Given the description of an element on the screen output the (x, y) to click on. 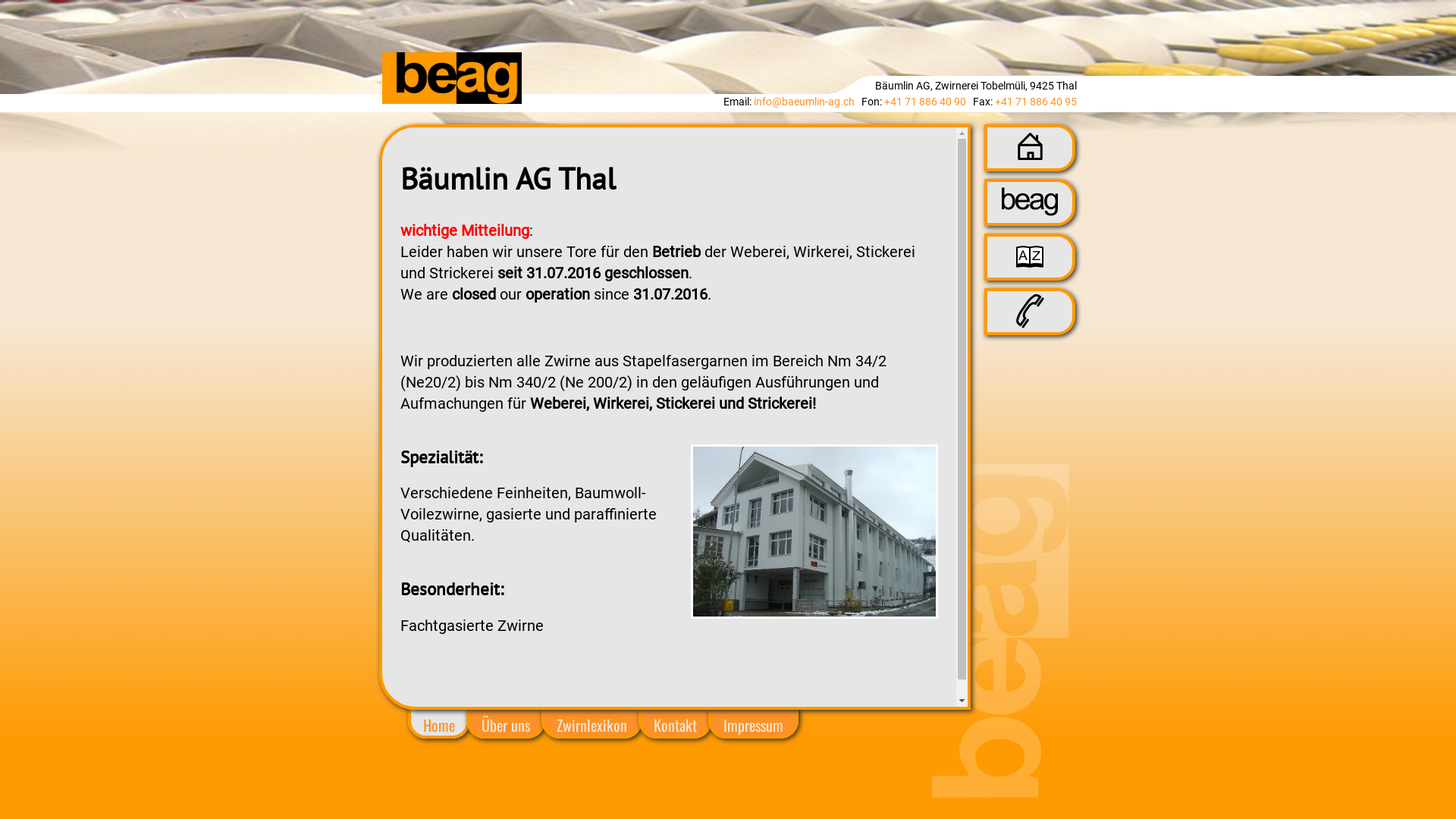
Kontakt beag Baeumlin AG Element type: hover (1030, 322)
Impressum Element type: text (753, 724)
Home Element type: text (439, 724)
+41 71 886 40 90 Element type: text (925, 101)
Zwirnlexikon Element type: text (591, 724)
info@baeumlin-ag.ch Element type: text (803, 101)
Homeseite von beag Zwirnerei Element type: hover (1029, 154)
+41 71 886 40 95 Element type: text (1035, 101)
Zwirnerei beag Ueber uns Element type: hover (1029, 210)
Kontakt Element type: text (674, 724)
von A bis Z Lexikon zwirnen Element type: hover (1029, 262)
